Given the description of an element on the screen output the (x, y) to click on. 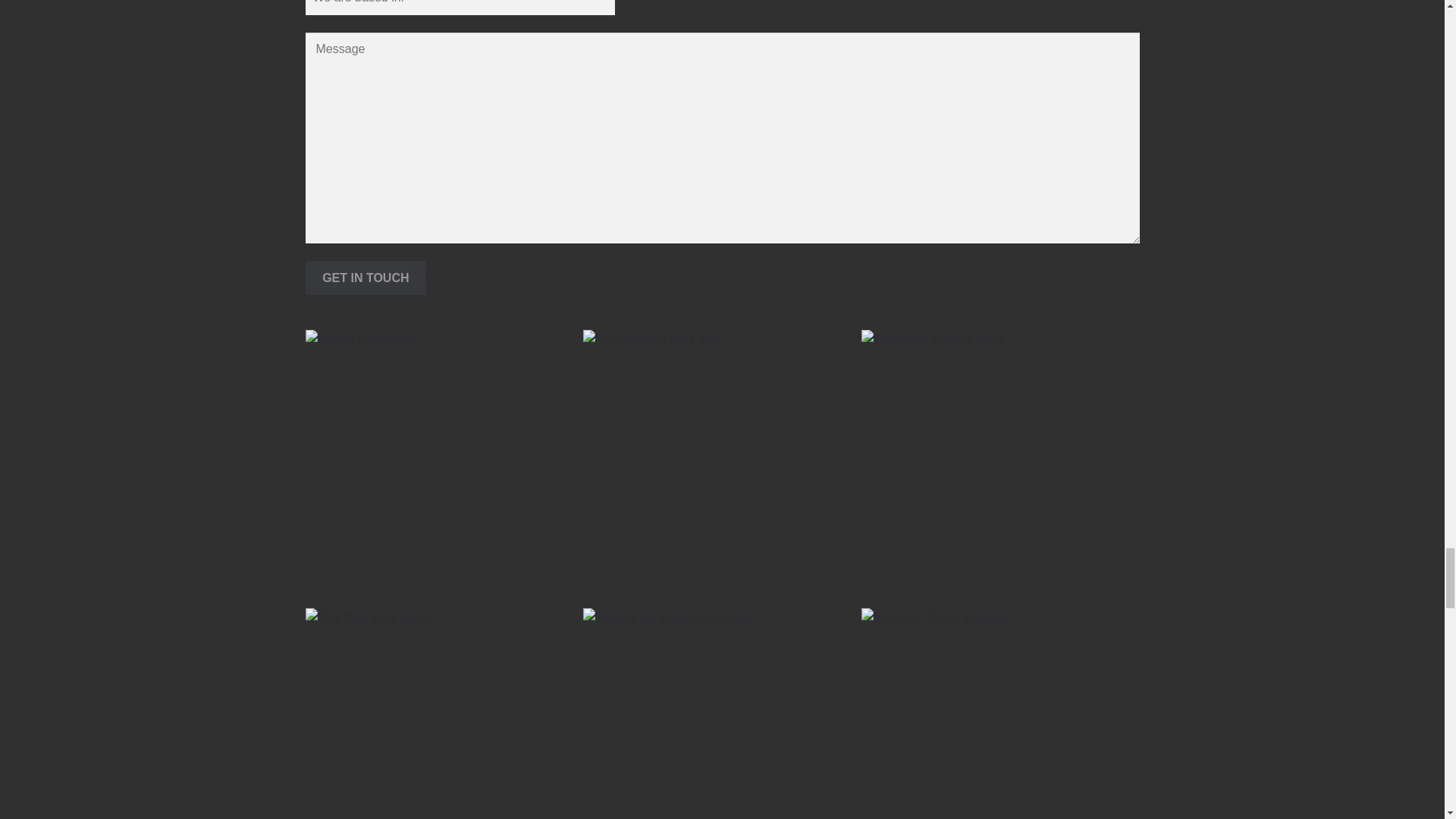
GET IN TOUCH (365, 278)
GET IN TOUCH (365, 278)
